Given the description of an element on the screen output the (x, y) to click on. 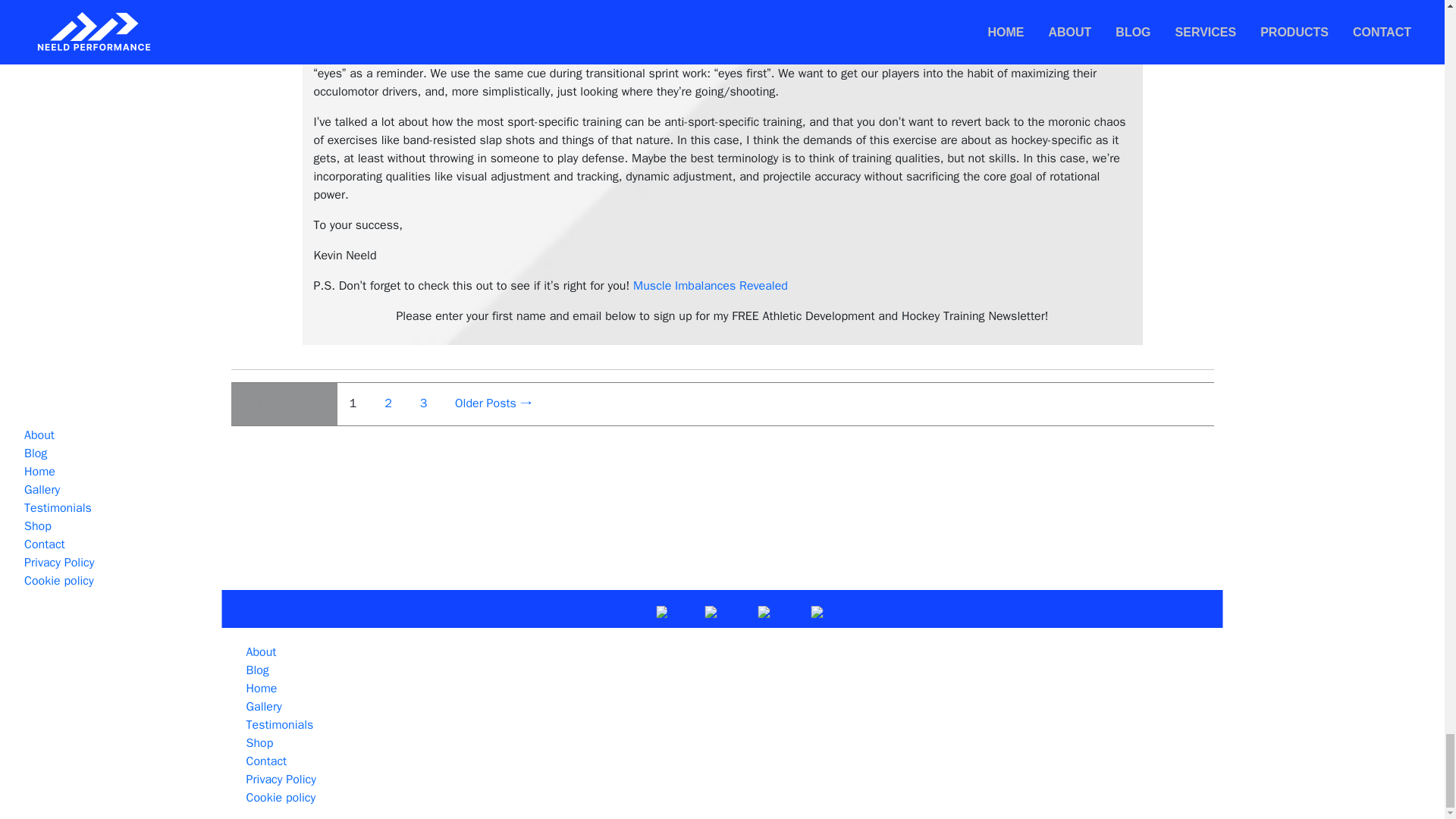
Home (39, 471)
Testimonials (57, 507)
Privacy Policy (59, 562)
Cookie policy (59, 580)
Shop (37, 525)
Muscle Imbalances Revealed (710, 285)
About (39, 435)
Gallery (41, 489)
Blog (35, 453)
Contact (44, 544)
